Given the description of an element on the screen output the (x, y) to click on. 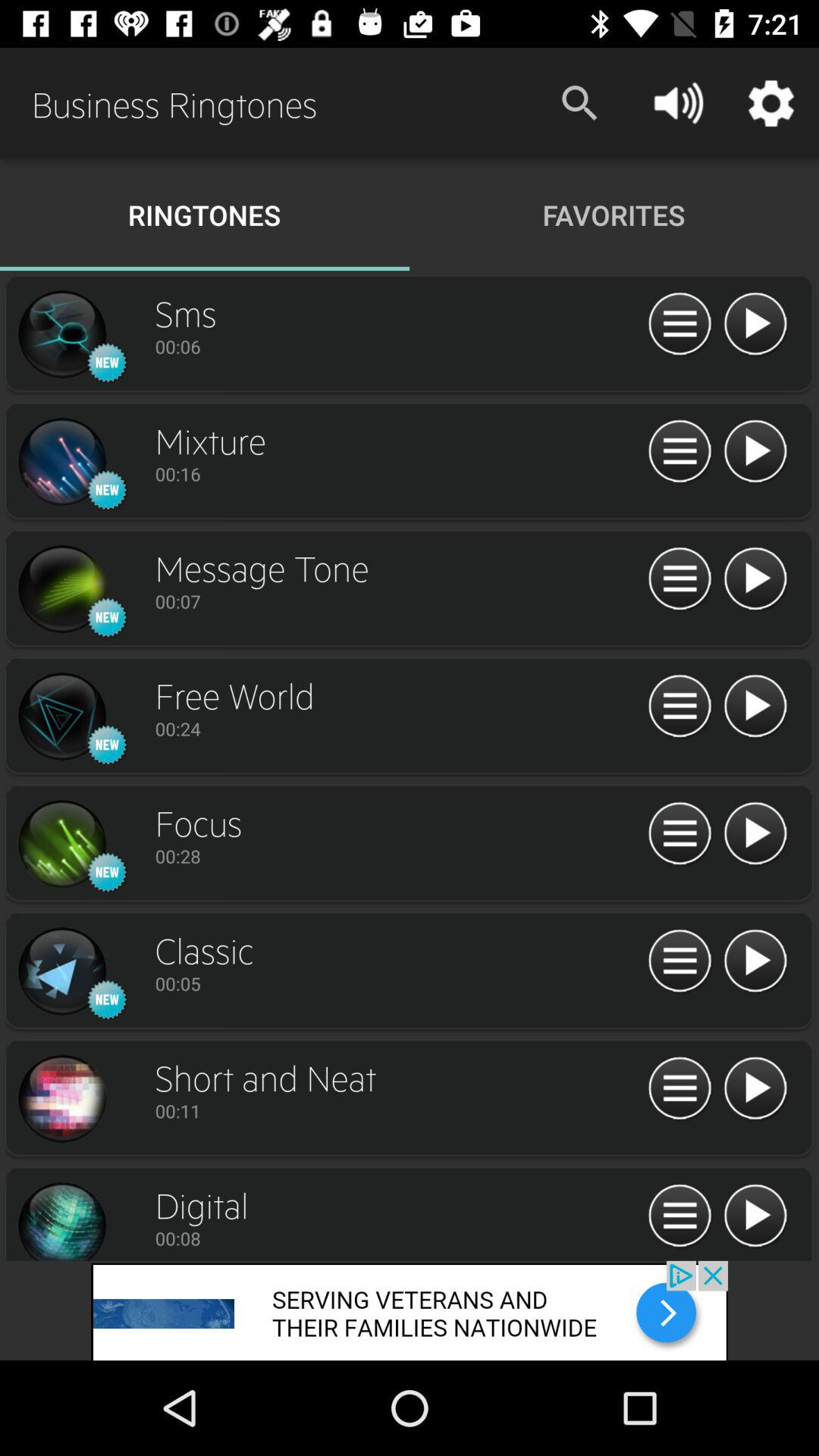
toggle menu option (679, 451)
